Given the description of an element on the screen output the (x, y) to click on. 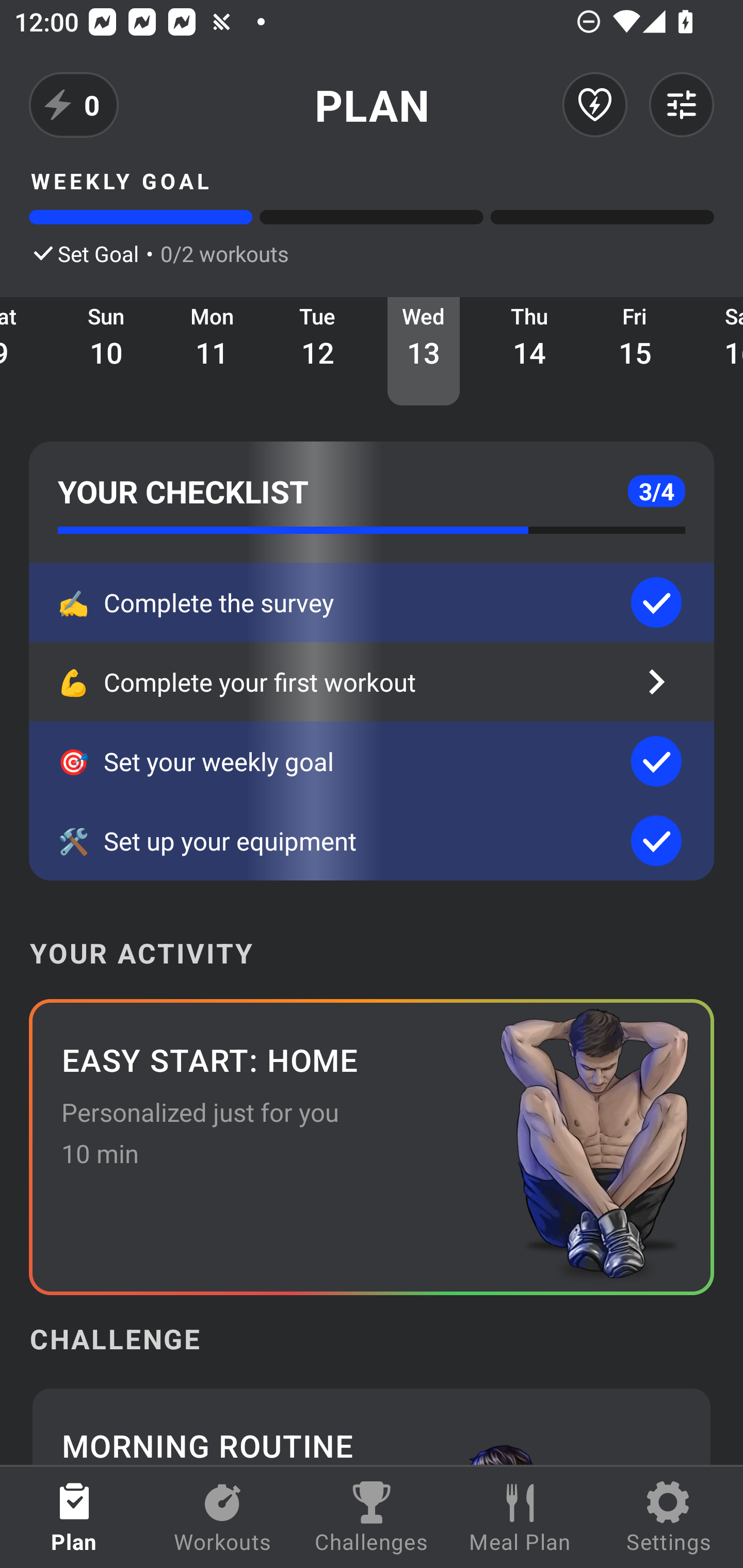
0 (73, 104)
Sun 10 (106, 351)
Mon 11 (212, 351)
Tue 12 (317, 351)
Wed 13 (423, 351)
Thu 14 (529, 351)
Fri 15 (635, 351)
💪 Complete your first workout (371, 681)
EASY START: HOME Personalized just for you 10 min (371, 1146)
 Workouts  (222, 1517)
 Challenges  (371, 1517)
 Meal Plan  (519, 1517)
 Settings  (668, 1517)
